Given the description of an element on the screen output the (x, y) to click on. 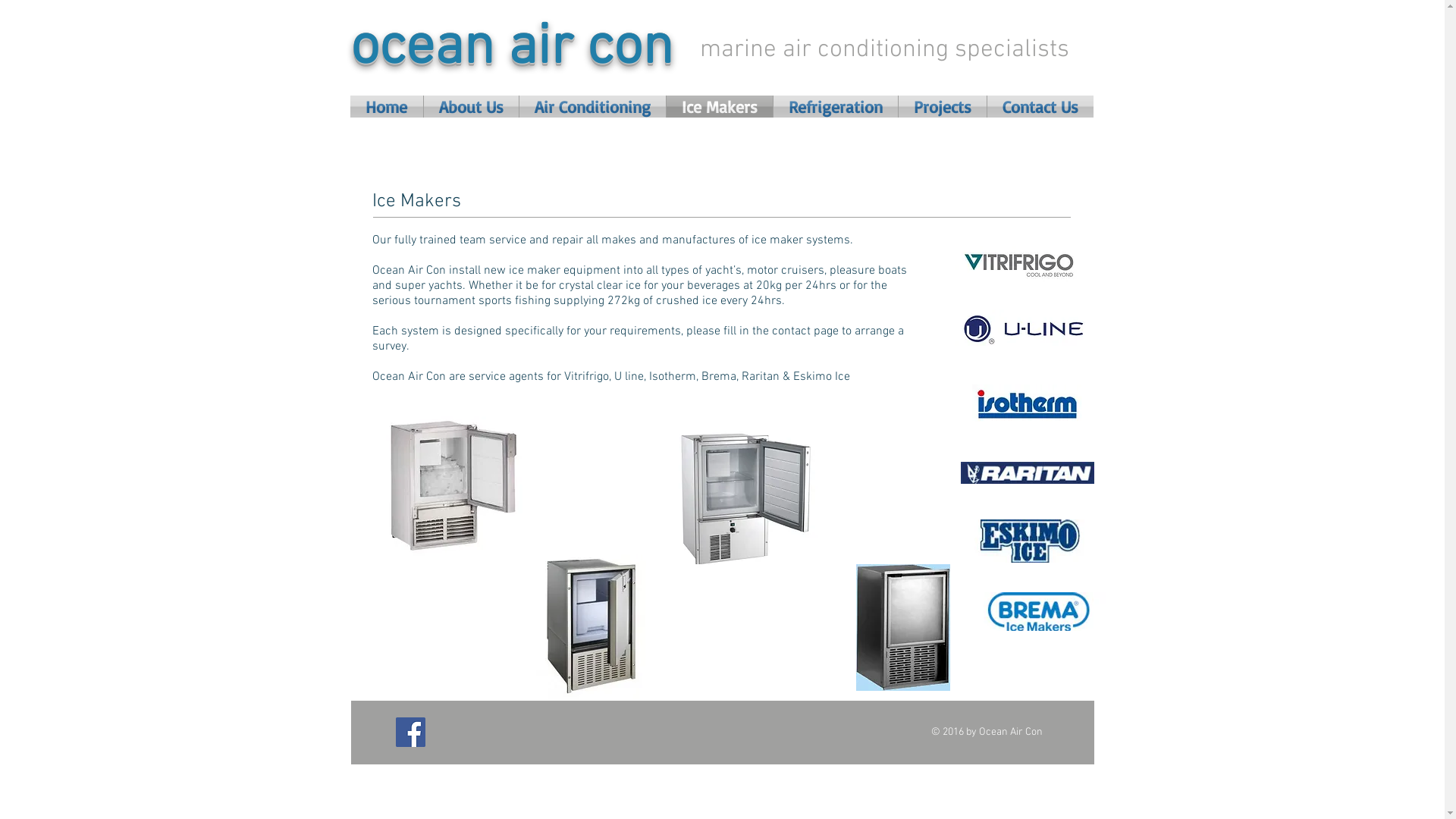
Home Element type: text (386, 106)
Ice Makers Element type: text (718, 106)
raritan_174w.jpg Element type: hover (1026, 472)
U line 2.JPG Element type: hover (1021, 327)
Air Conditioning Element type: text (591, 106)
Projects Element type: text (941, 106)
brema_174w.jpg Element type: hover (1038, 611)
About Us Element type: text (470, 106)
vitrifrigo 3.JPG Element type: hover (1021, 264)
eskimo_ice_174w.jpg Element type: hover (1029, 540)
Contact Us Element type: text (1040, 106)
Refrigeration Element type: text (835, 106)
